Given the description of an element on the screen output the (x, y) to click on. 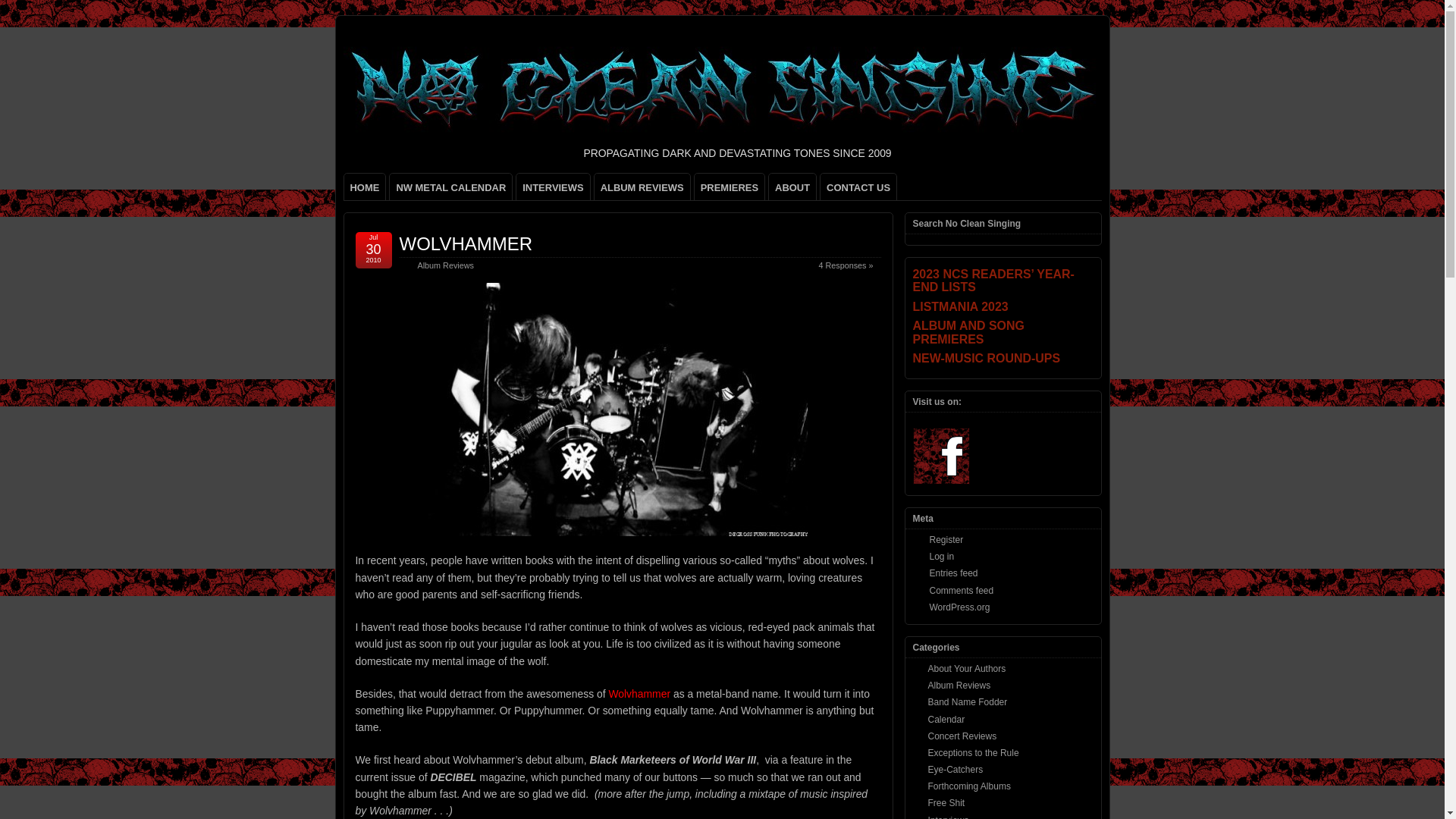
INTERVIEWS (552, 186)
HOME (364, 186)
ALBUM AND SONG PREMIERES (1002, 332)
LISTMANIA 2023 (1002, 306)
Interviews (948, 816)
Log in (942, 556)
Concert Reviews (962, 736)
Register (946, 539)
Album Reviews (959, 685)
WOLVHAMMER (465, 243)
